Given the description of an element on the screen output the (x, y) to click on. 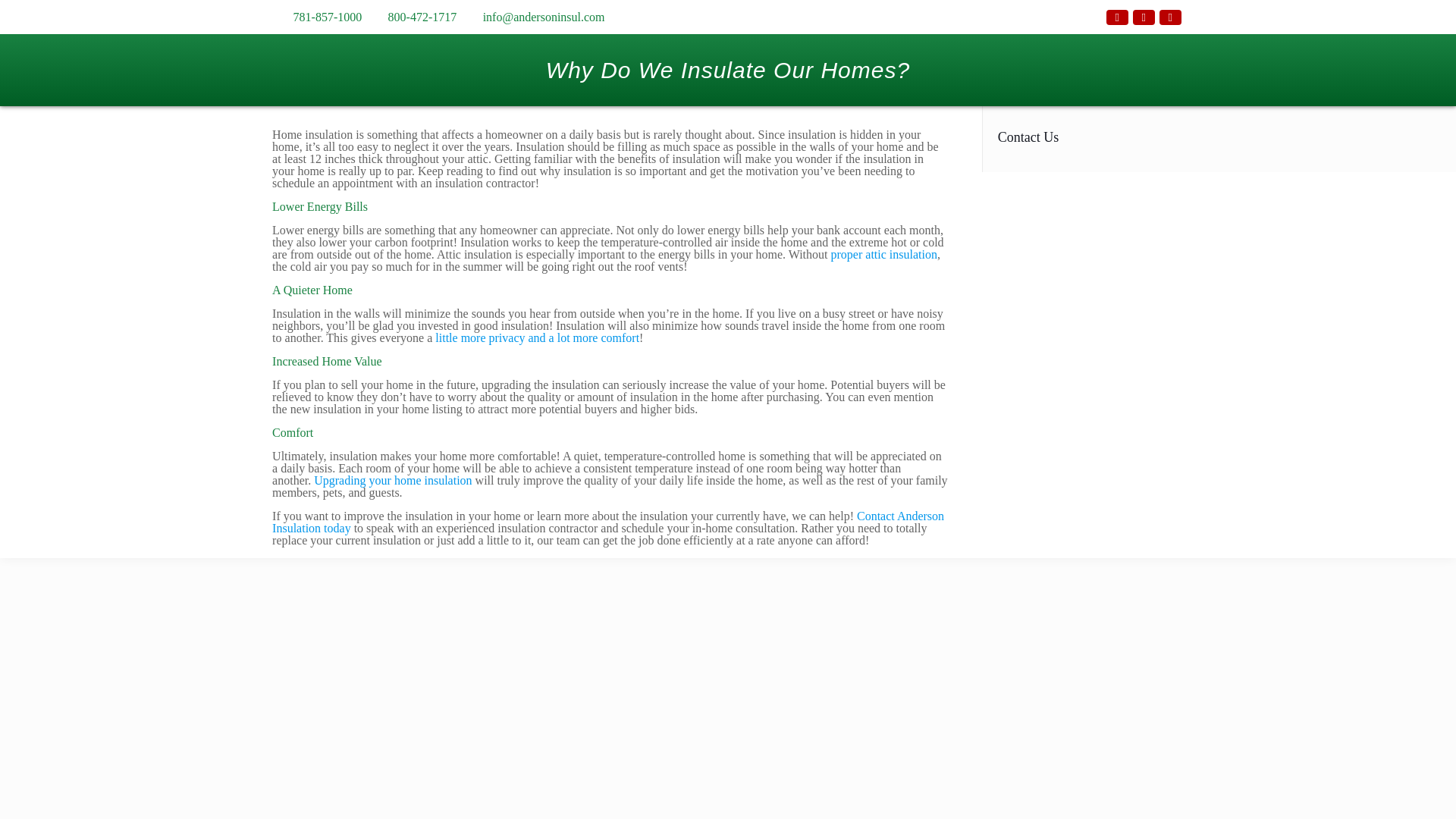
781-857-1000 (328, 16)
little more privacy and a lot more comfort (537, 337)
800-472-1717 (422, 16)
Twitter (1143, 17)
Instagram (1169, 17)
Facebook (1117, 17)
Upgrading your home insulation (392, 480)
Contact Anderson Insulation today (607, 521)
proper attic insulation (884, 254)
